Given the description of an element on the screen output the (x, y) to click on. 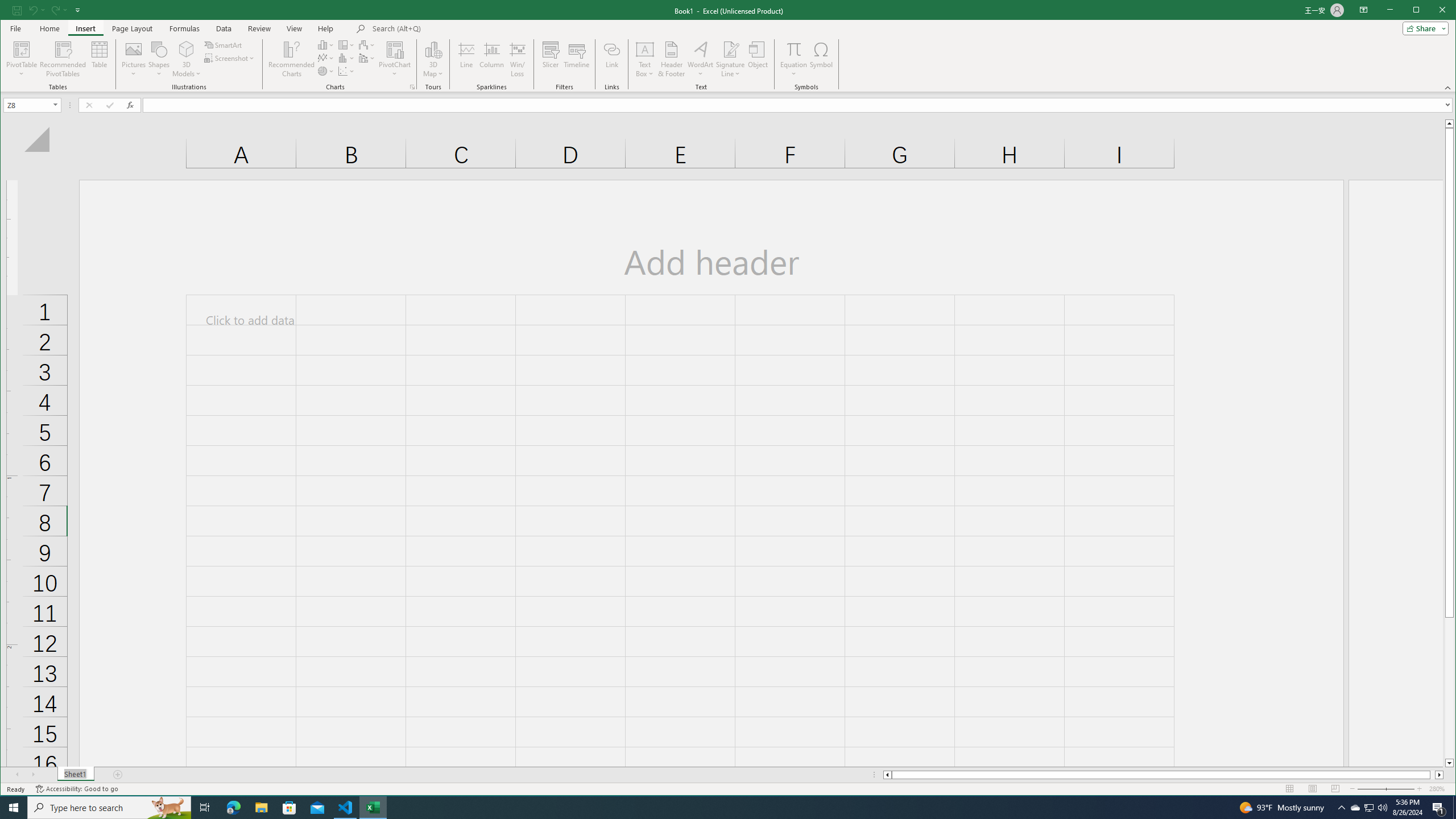
3D Map (432, 48)
Equation (1355, 807)
PivotChart (793, 48)
3D Models (394, 59)
Insert Waterfall, Funnel, Stock, Surface, or Radar Chart (186, 59)
Q2790: 100% (366, 44)
Insert Line or Area Chart (1382, 807)
Table (325, 57)
Class: MsoCommandBar (99, 59)
